Given the description of an element on the screen output the (x, y) to click on. 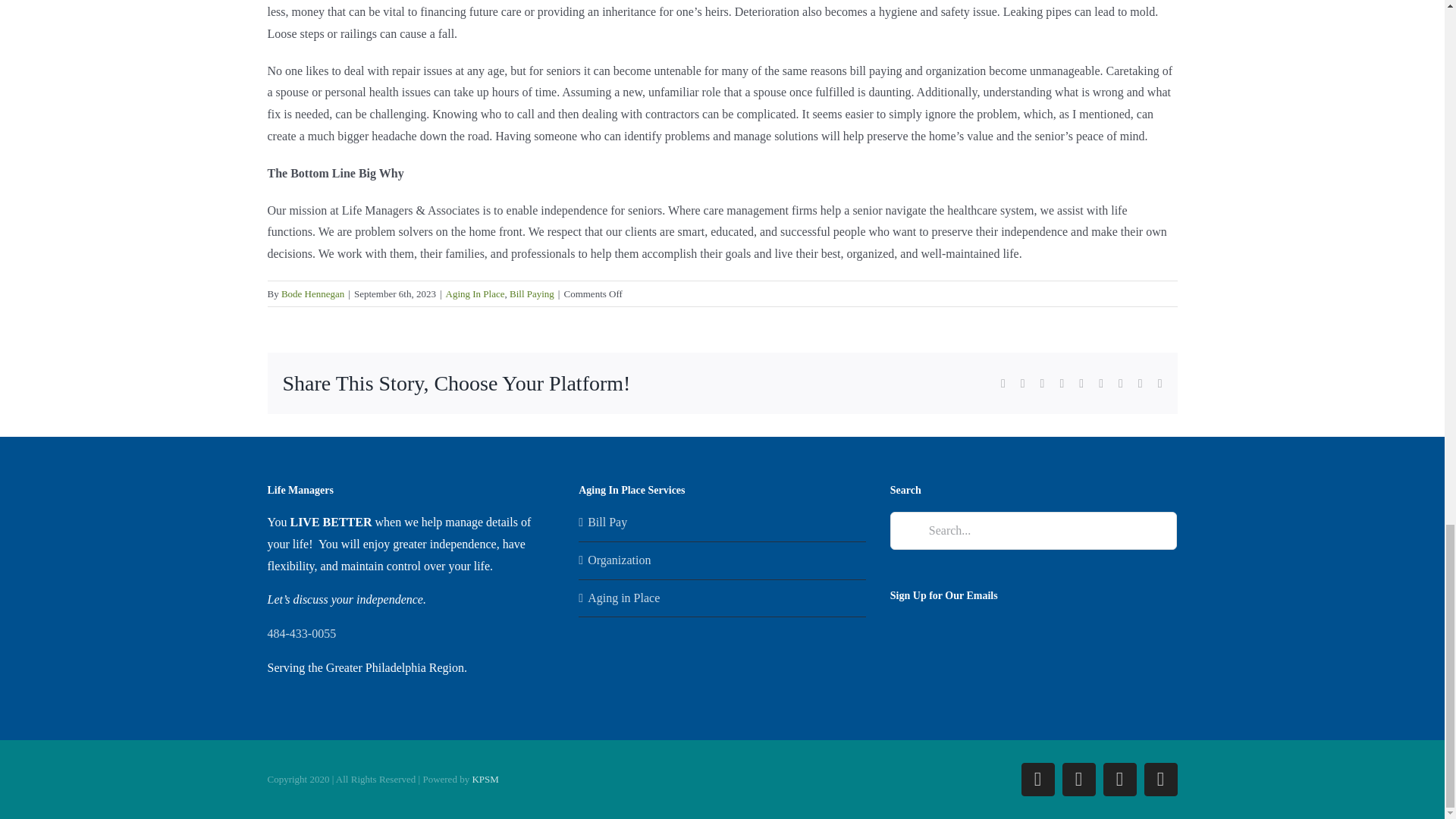
Aging in Place (723, 598)
Instagram (1118, 779)
LinkedIn (1077, 779)
Posts by Bode Hennegan (312, 293)
Email (1159, 779)
LinkedIn (1077, 779)
Organization (723, 560)
Facebook (1037, 779)
484-433-0055 (301, 633)
Instagram (1118, 779)
Bode Hennegan (312, 293)
Aging In Place (475, 293)
Facebook (1037, 779)
Bill Pay (723, 522)
Email (1159, 779)
